Given the description of an element on the screen output the (x, y) to click on. 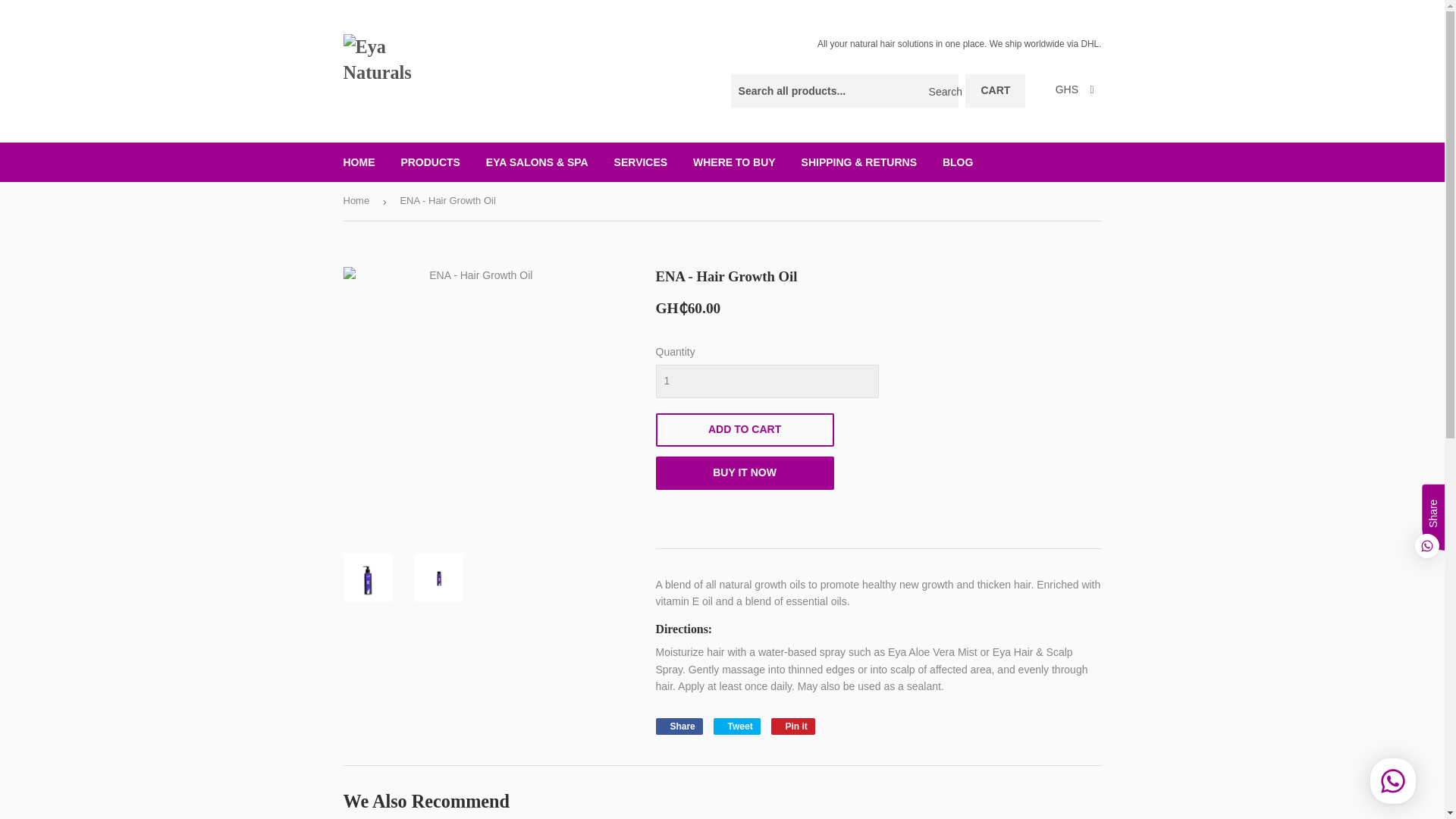
HOME (793, 726)
1 (359, 161)
SERVICES (766, 381)
WHERE TO BUY (640, 161)
ADD TO CART (734, 161)
CART (736, 726)
BLOG (743, 429)
Share on Facebook (995, 90)
BUY IT NOW (957, 161)
Tweet on Twitter (678, 726)
PRODUCTS (743, 472)
Search (736, 726)
Pin on Pinterest (429, 161)
